Given the description of an element on the screen output the (x, y) to click on. 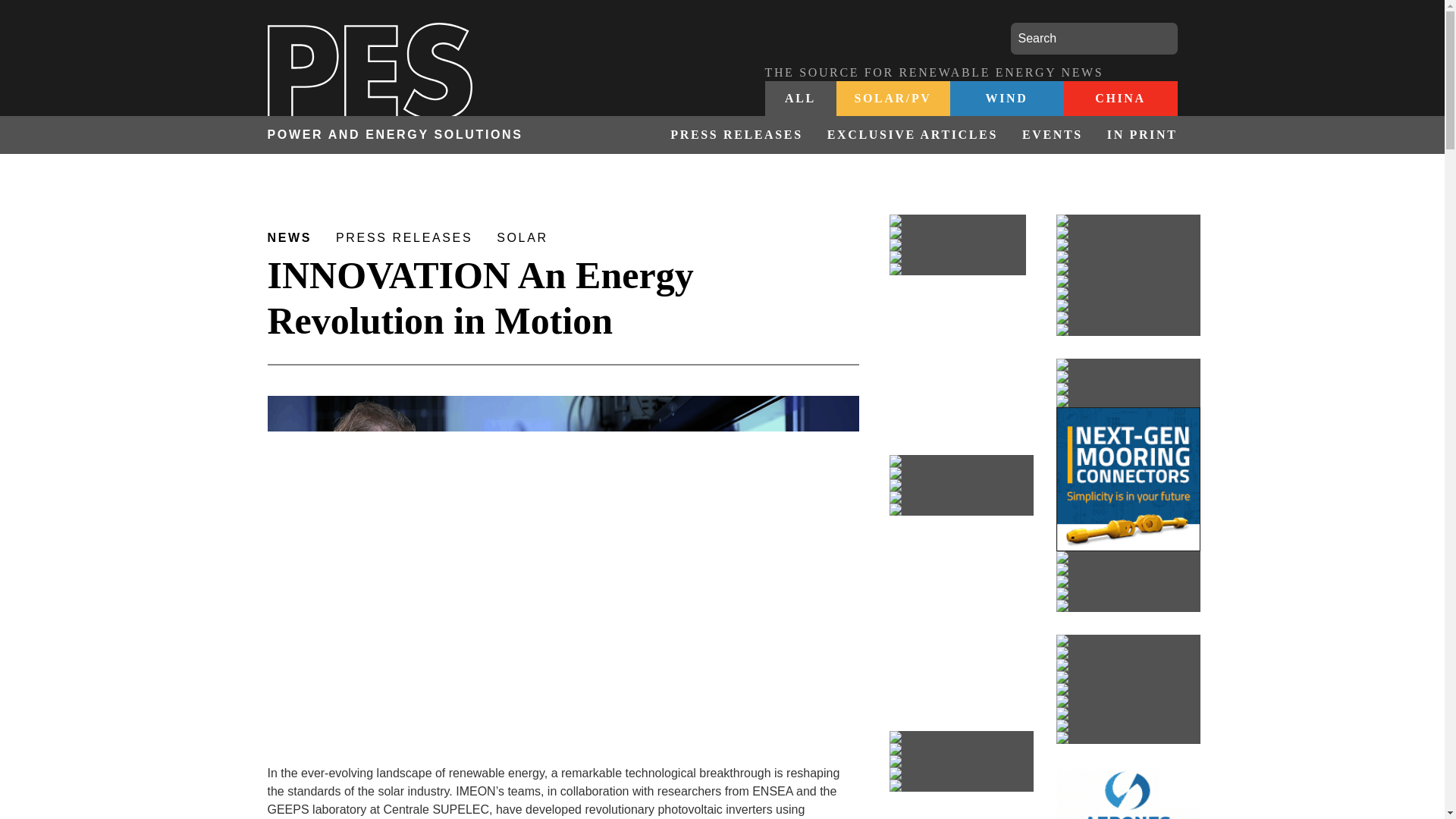
EVENTS (1052, 134)
CHINA (1119, 98)
WIND (1005, 98)
PRESS RELEASES (735, 134)
EXCLUSIVE ARTICLES (912, 134)
IN PRINT (1135, 134)
ALL (799, 98)
Search for: (1093, 38)
